Given the description of an element on the screen output the (x, y) to click on. 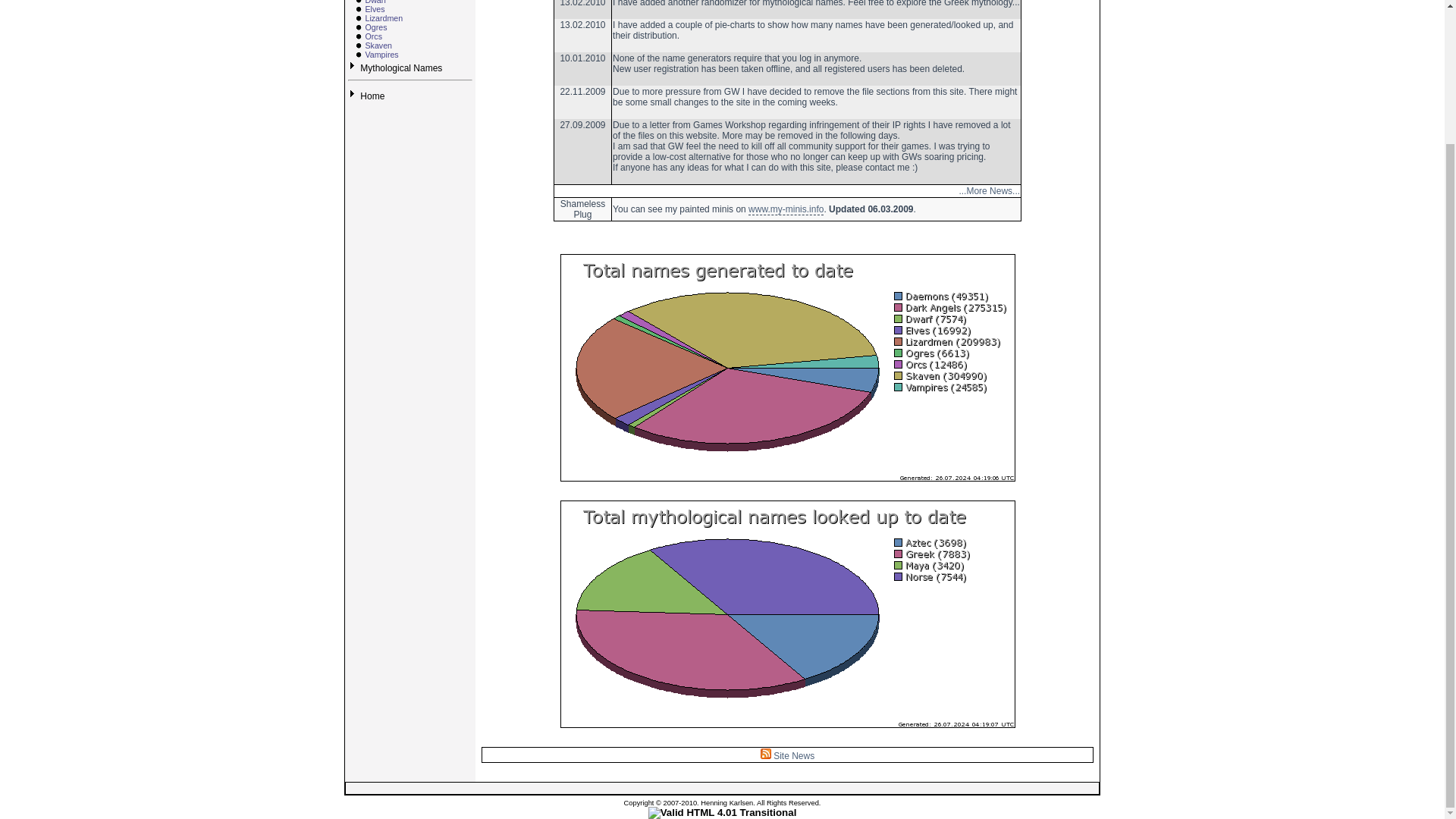
Ogres (376, 26)
Dwarf (375, 2)
Skaven (378, 44)
Lizardmen (384, 17)
Mythological Names (400, 68)
Advertisement (721, 787)
Vampires (381, 53)
Home (371, 95)
...More News... (989, 190)
  Site News  (786, 756)
Orcs (373, 35)
www.my-minis.info (786, 209)
Elves (374, 8)
